Given the description of an element on the screen output the (x, y) to click on. 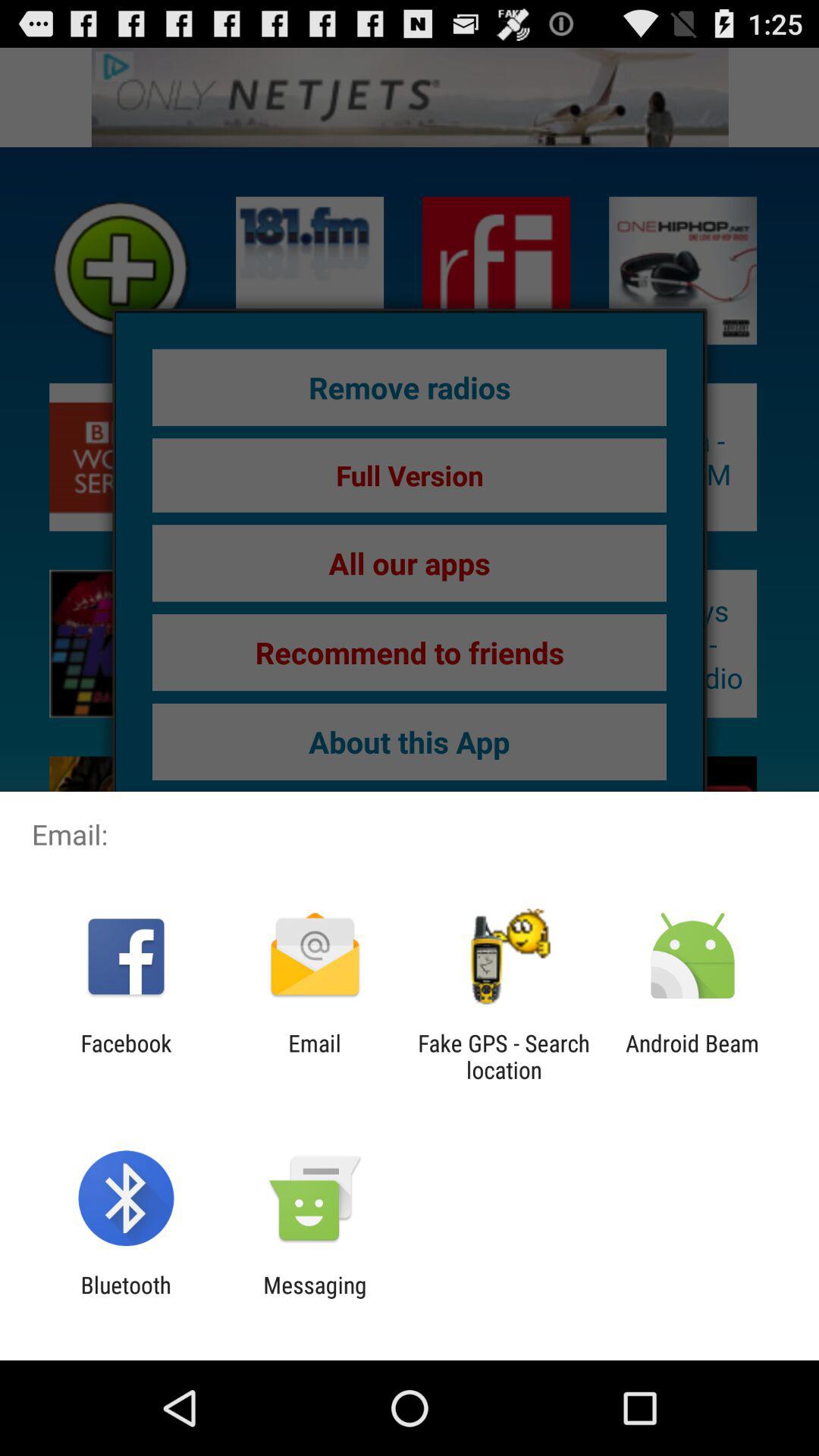
select android beam (692, 1056)
